Given the description of an element on the screen output the (x, y) to click on. 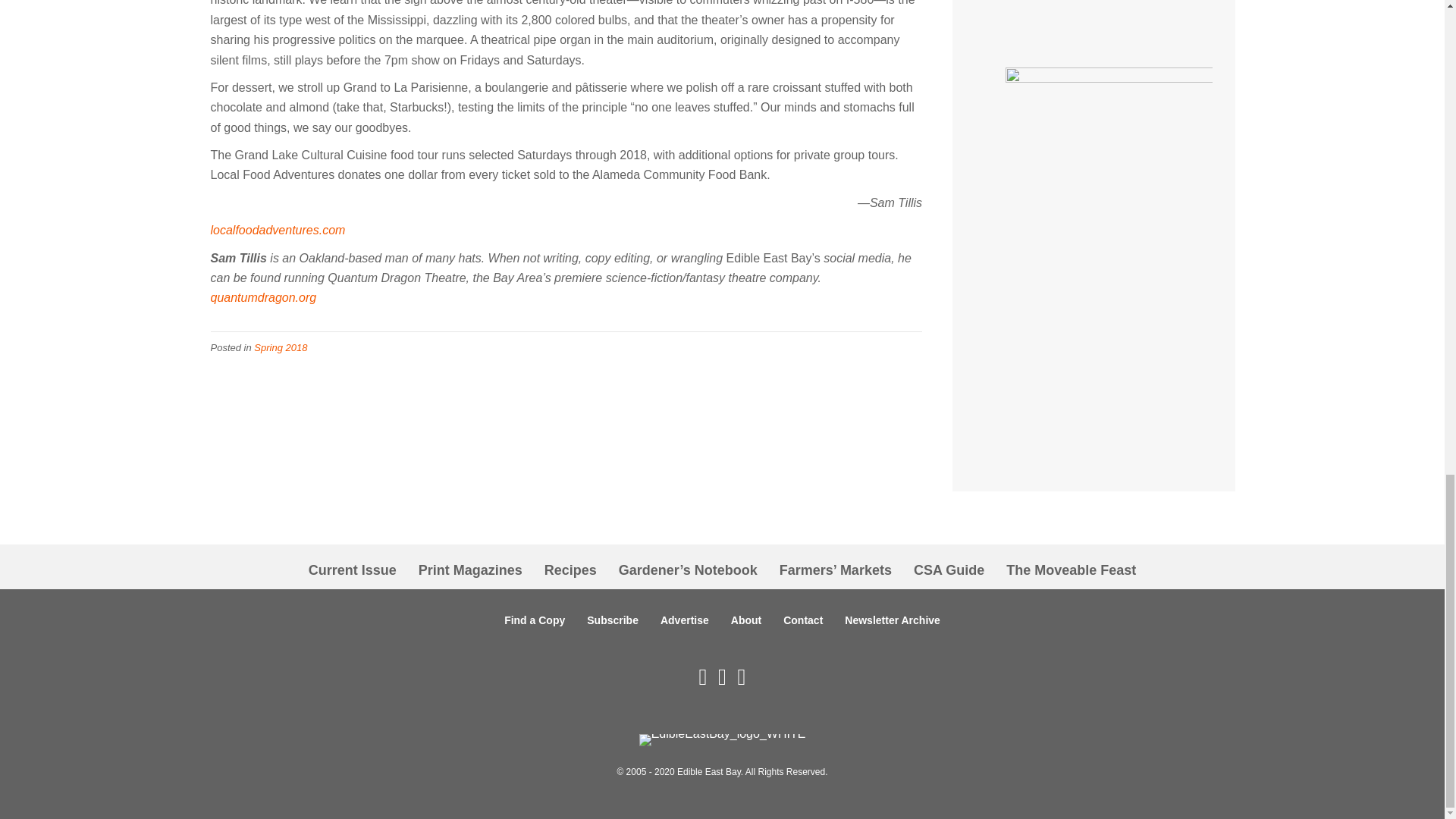
Spring 2018 (280, 347)
Current Issue (352, 569)
quantumdragon.org (264, 297)
Print Magazines (469, 569)
localfoodadventures.com (278, 229)
